Given the description of an element on the screen output the (x, y) to click on. 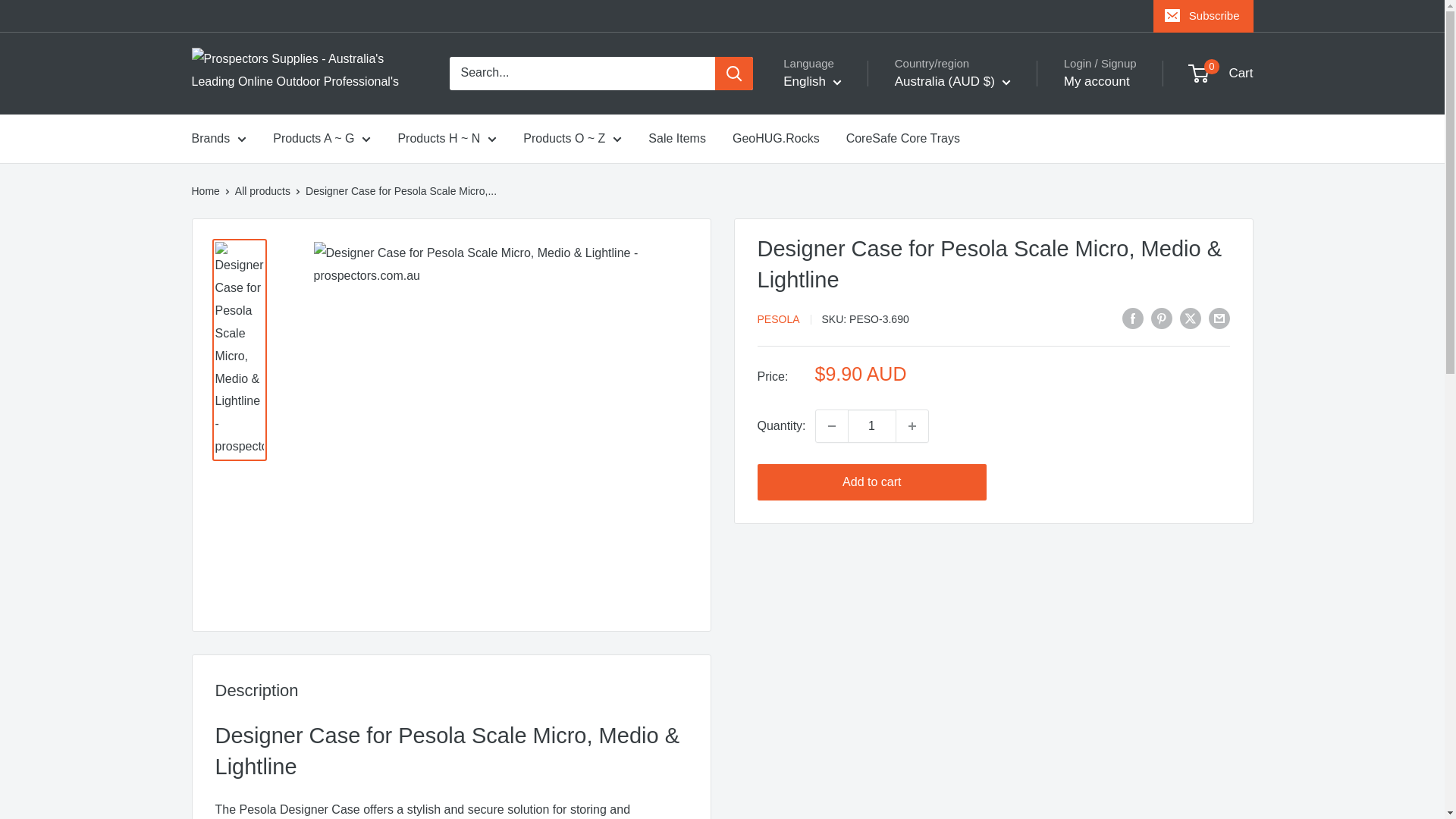
Subscribe (1203, 15)
Decrease quantity by 1 (831, 426)
1 (871, 426)
Increase quantity by 1 (912, 426)
